Given the description of an element on the screen output the (x, y) to click on. 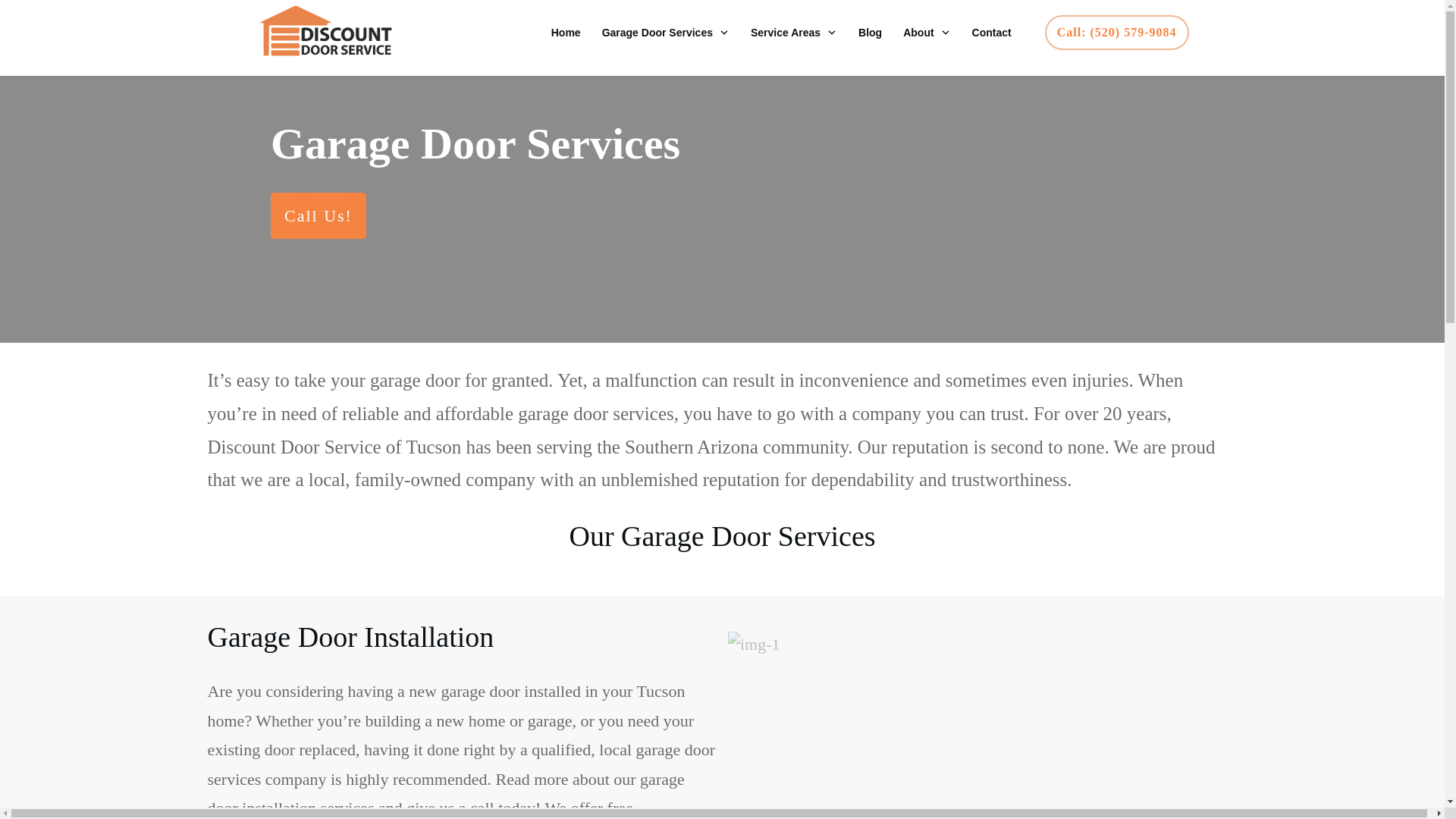
About (926, 31)
Service Areas (794, 31)
Home (565, 31)
Blog (870, 31)
Garage Door Services (665, 31)
Call Us! (318, 215)
garage-door-installation-discount-door-service (983, 725)
Contact (991, 31)
